Given the description of an element on the screen output the (x, y) to click on. 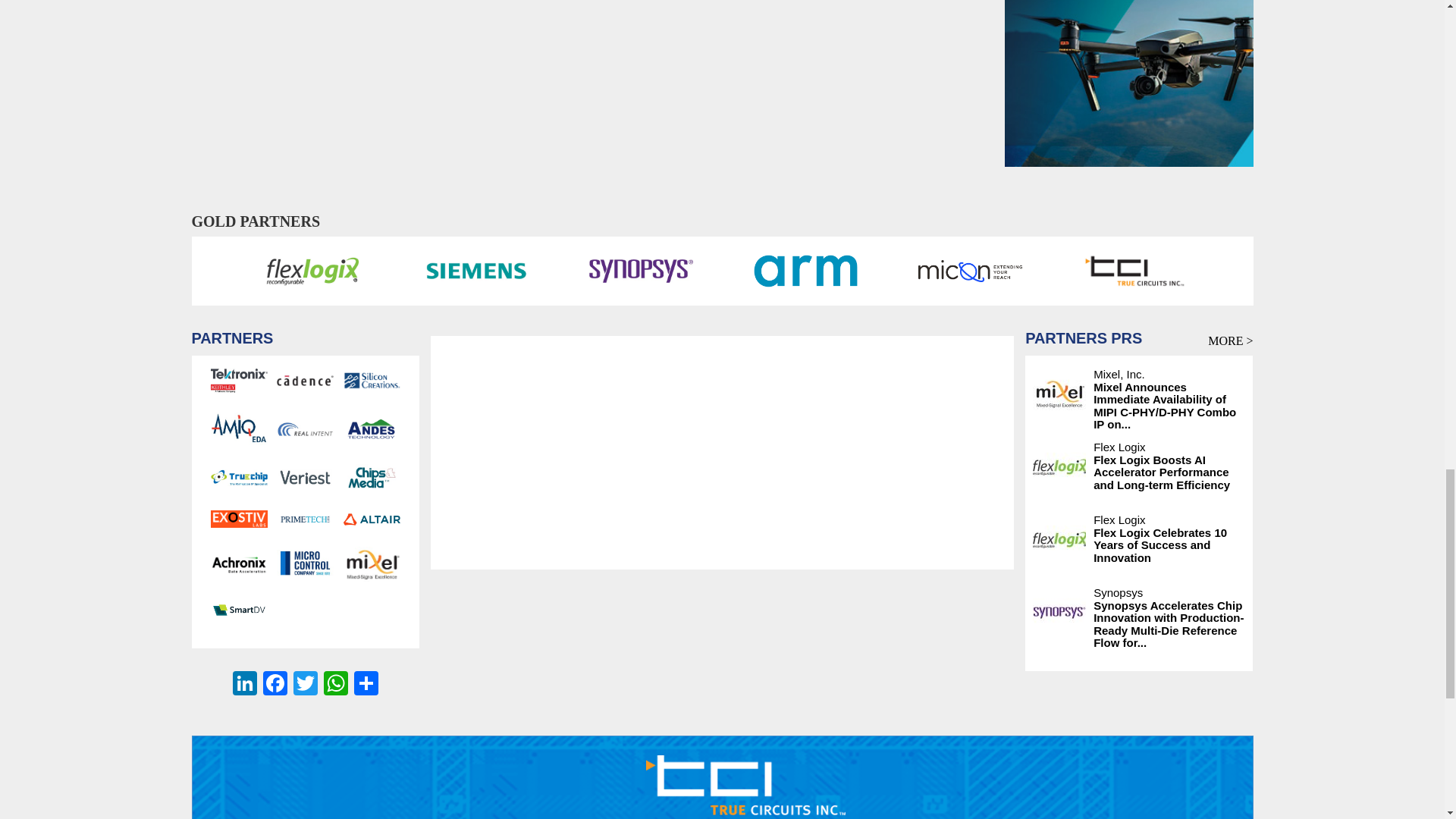
WhatsApp (335, 684)
Twitter (304, 684)
LinkedIn (245, 684)
Facebook (274, 684)
